Given the description of an element on the screen output the (x, y) to click on. 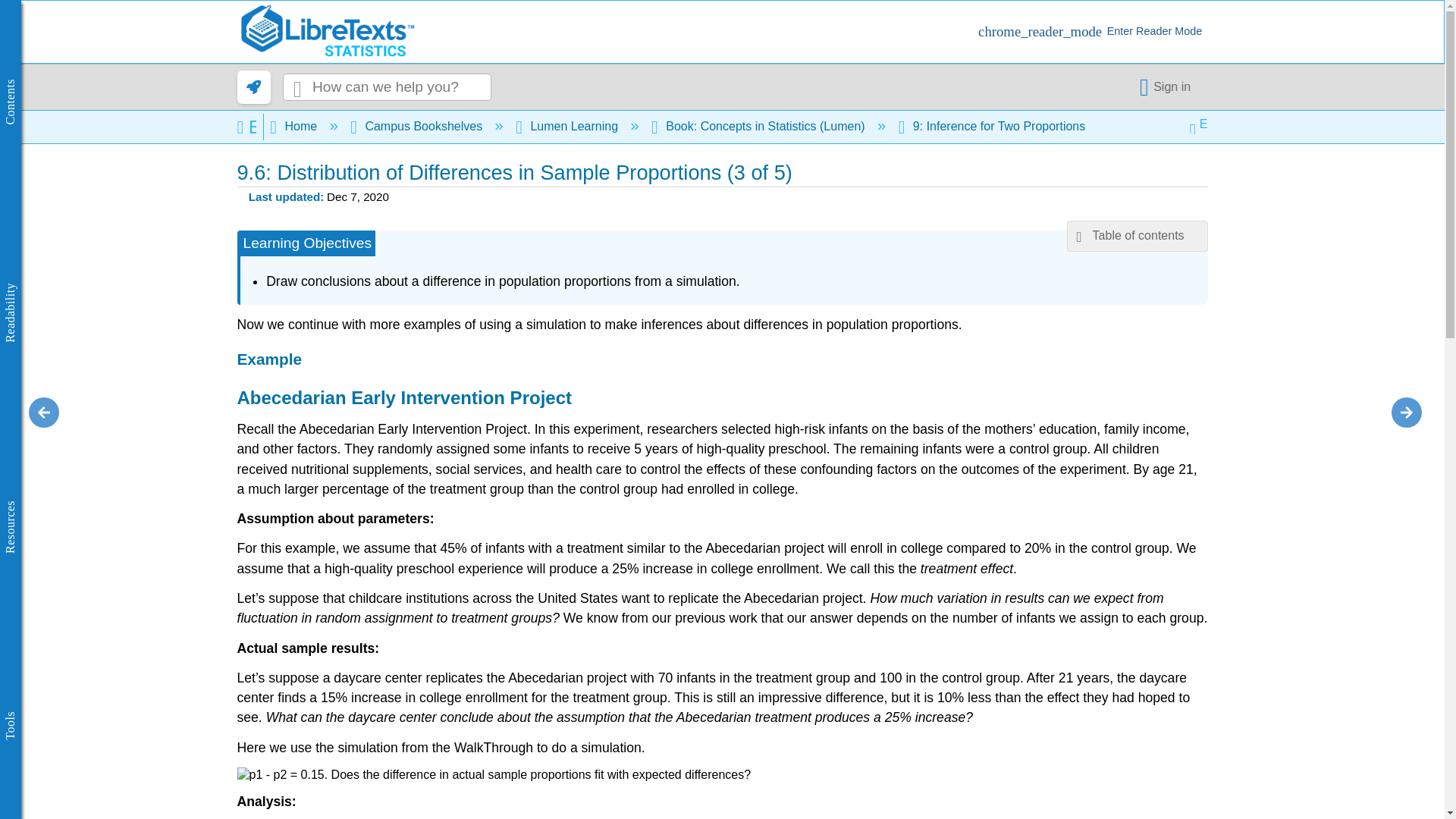
Single Sign-On (1167, 86)
